Given the description of an element on the screen output the (x, y) to click on. 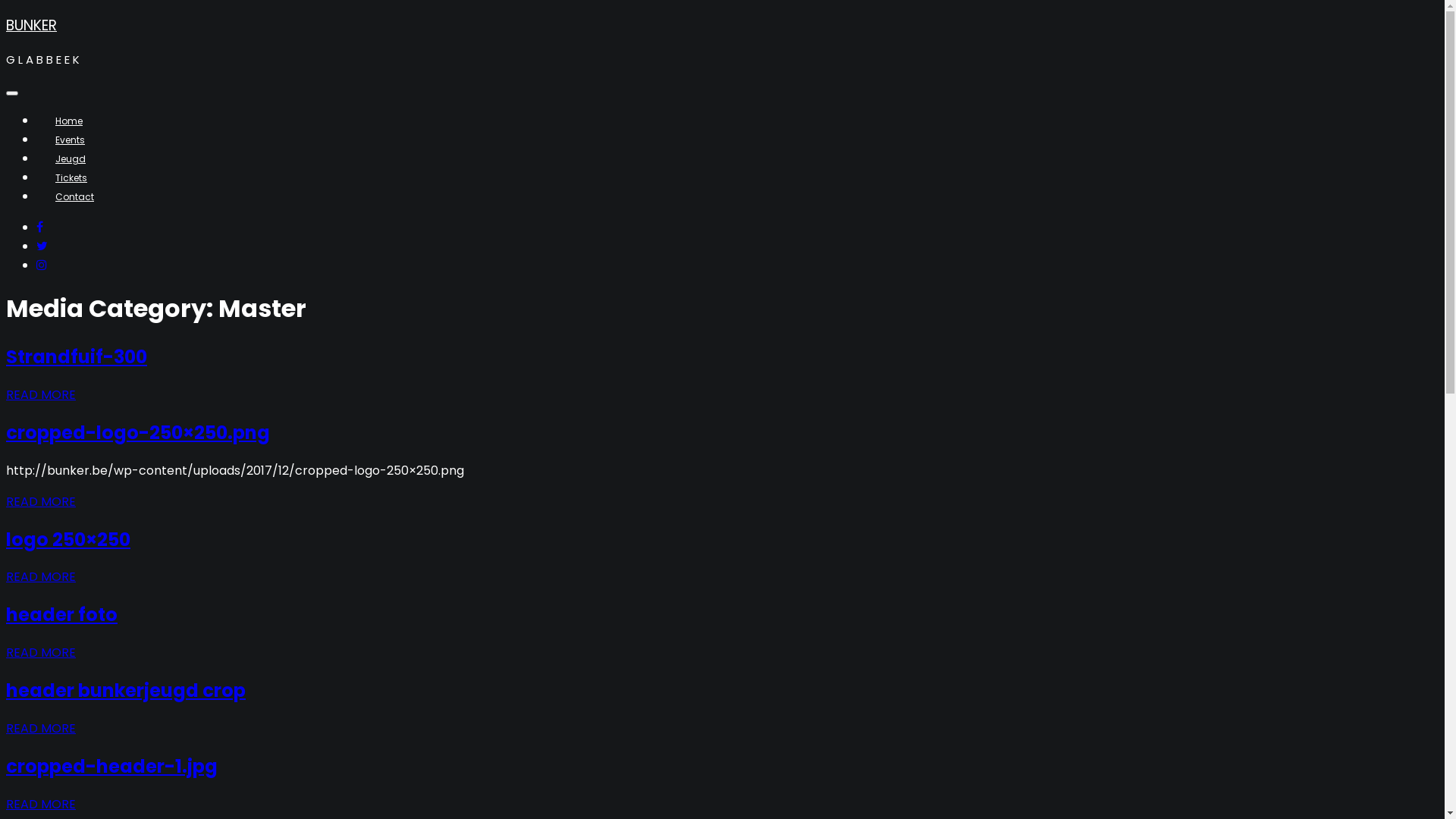
READ MORE Element type: text (40, 652)
Strandfuif-300 Element type: text (76, 356)
header foto Element type: text (61, 614)
Tickets Element type: text (71, 177)
READ MORE Element type: text (40, 576)
Events Element type: text (69, 139)
READ MORE Element type: text (40, 728)
READ MORE Element type: text (40, 501)
Contact Element type: text (74, 196)
READ MORE Element type: text (40, 803)
READ MORE Element type: text (40, 394)
Home Element type: text (68, 120)
Jeugd Element type: text (70, 158)
Skip to content Element type: text (5, 13)
BUNKER Element type: text (31, 25)
header bunkerjeugd crop Element type: text (125, 689)
cropped-header-1.jpg Element type: text (111, 765)
